Given the description of an element on the screen output the (x, y) to click on. 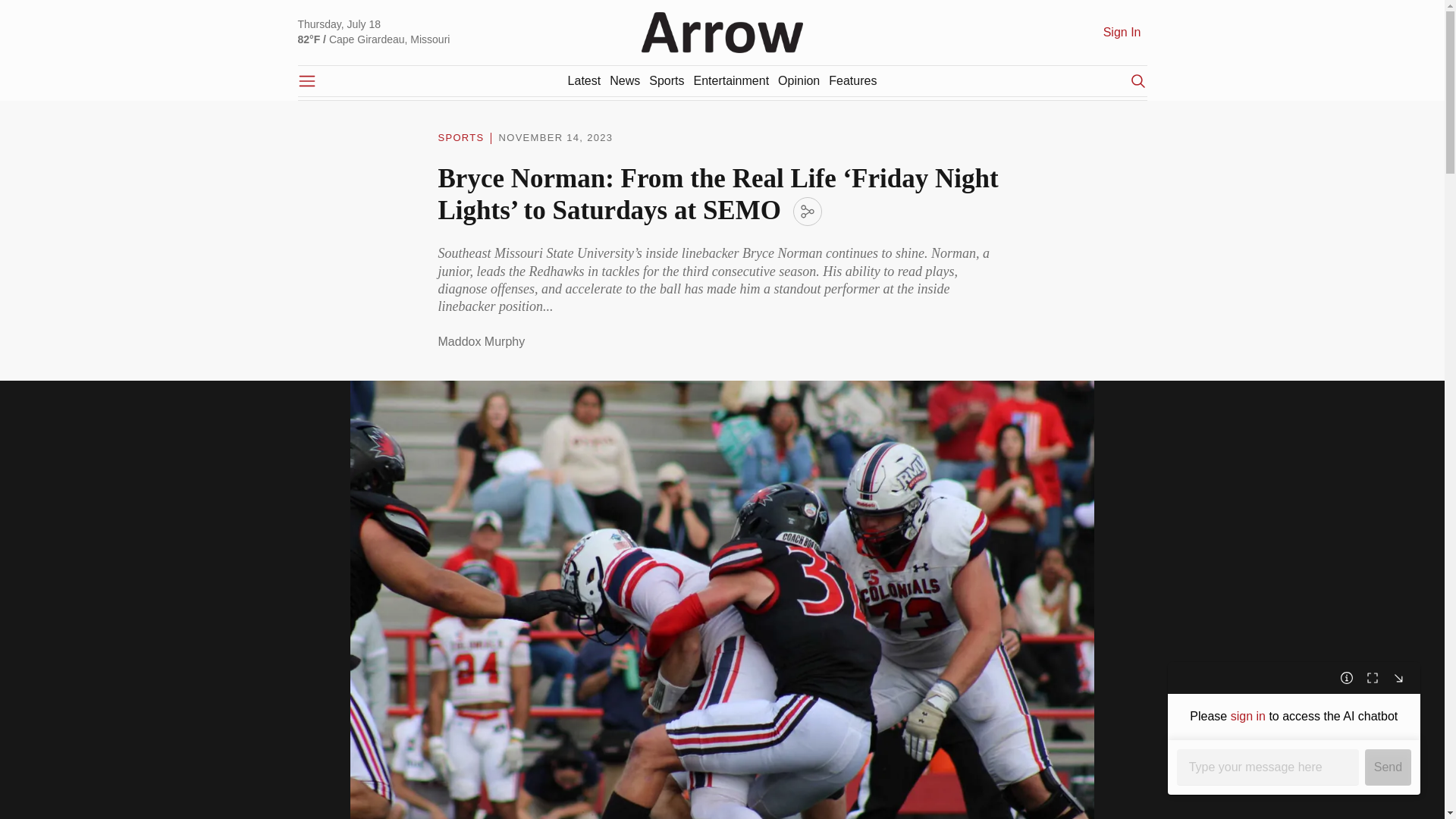
Latest (584, 80)
Sports (666, 80)
Opinion (798, 80)
Sign In (1122, 32)
Entertainment (730, 80)
News (625, 80)
Features (852, 80)
Maddox Murphy (481, 342)
SPORTS (461, 137)
Please sign in to access the AI chatbot (1294, 716)
